Given the description of an element on the screen output the (x, y) to click on. 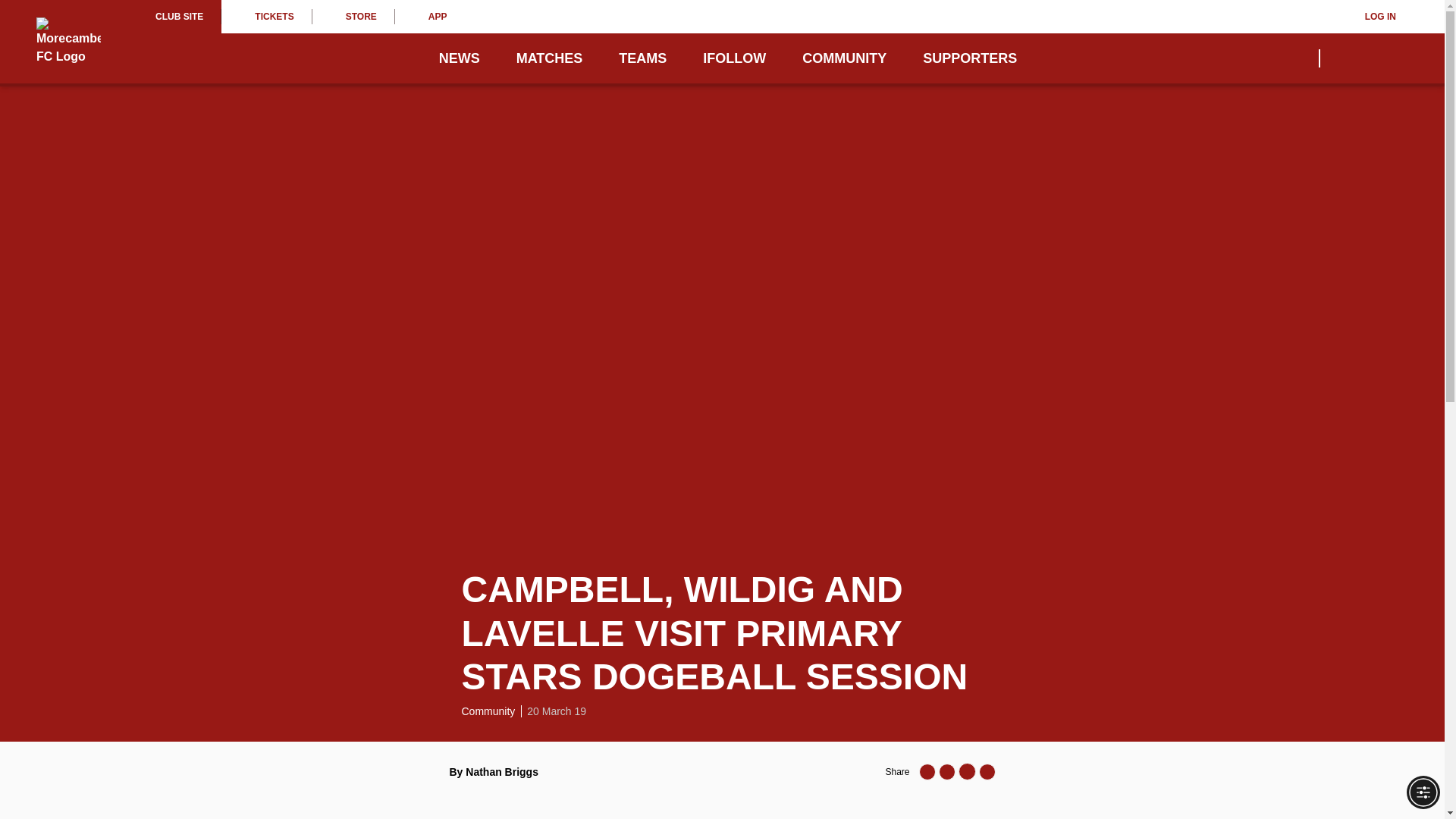
Accessibility Menu (1422, 792)
TEAMS (642, 58)
IFOLLOW (734, 58)
MATCHES (549, 58)
CLUB SITE (178, 16)
COMMUNITY (844, 58)
STORE (353, 16)
TICKETS (266, 16)
APP (429, 16)
SUPPORTERS (969, 58)
